Given the description of an element on the screen output the (x, y) to click on. 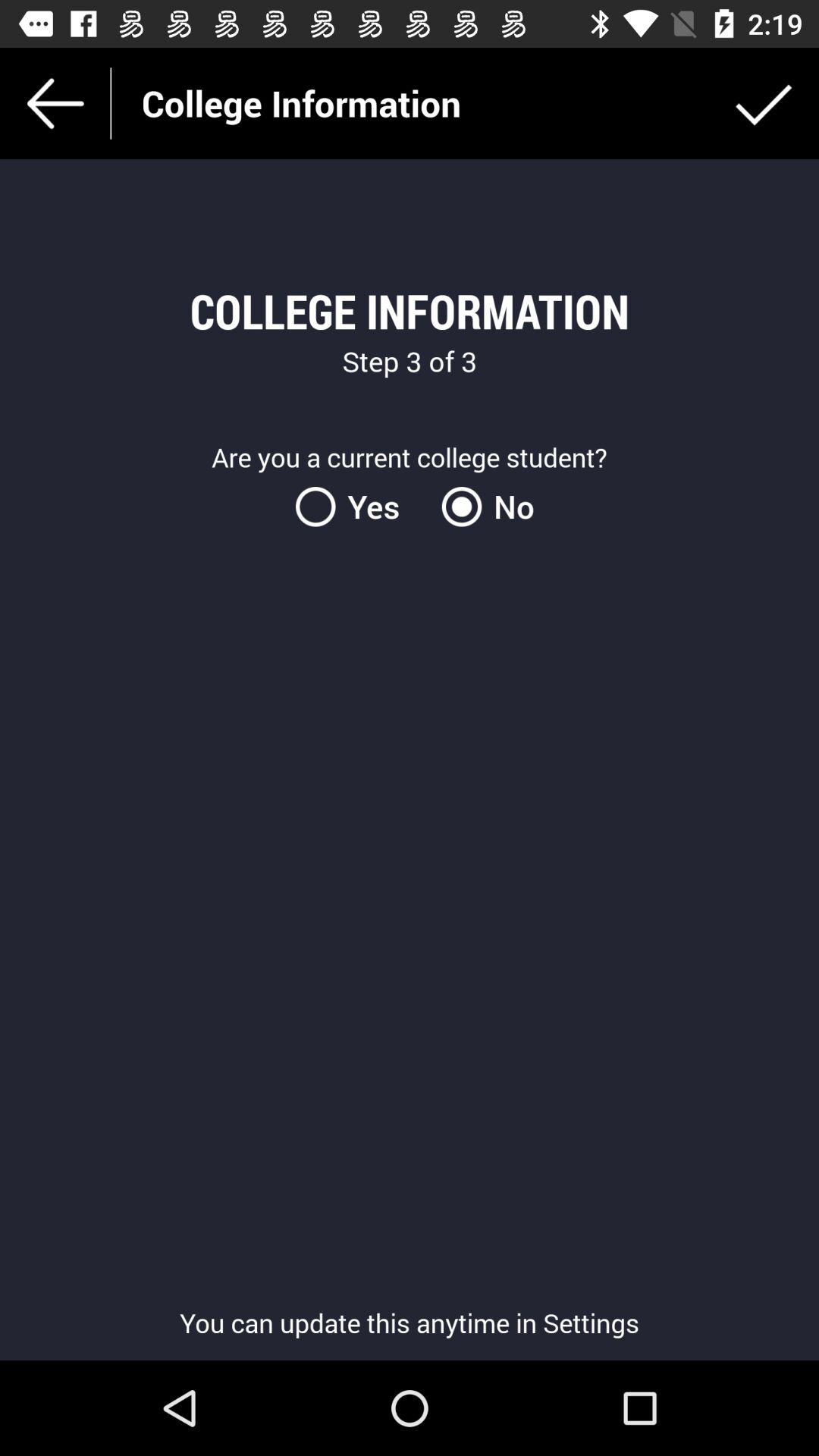
tap the item next to the college information item (763, 103)
